Given the description of an element on the screen output the (x, y) to click on. 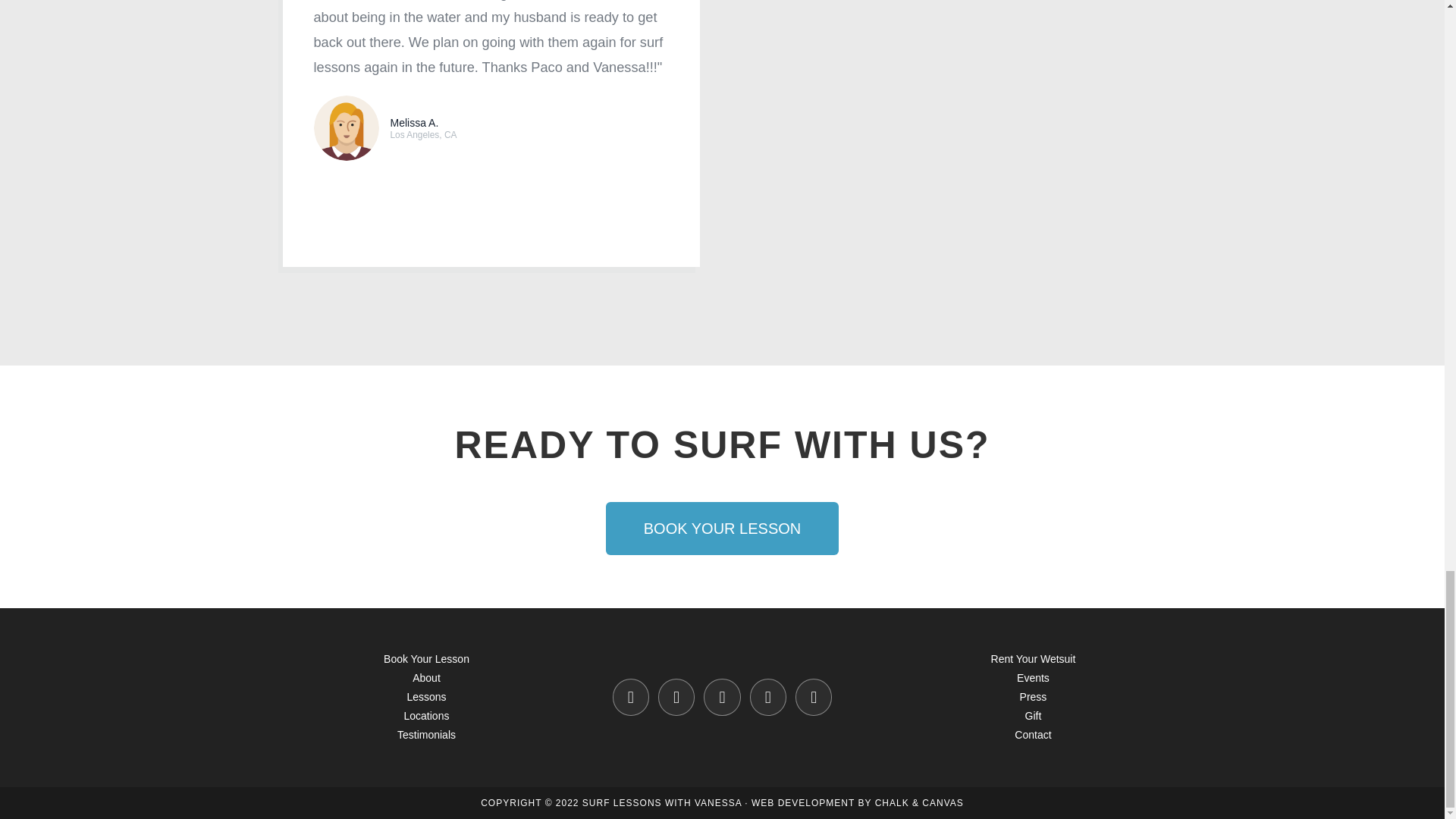
Locations (426, 715)
Press (1033, 696)
Gift (1033, 715)
Contact (1032, 734)
BOOK YOUR LESSON (721, 528)
Events (1032, 677)
About (426, 677)
Lessons (425, 696)
Book Your Lesson (426, 658)
Testimonials (426, 734)
Rent Your Wetsuit (1033, 658)
